Given the description of an element on the screen output the (x, y) to click on. 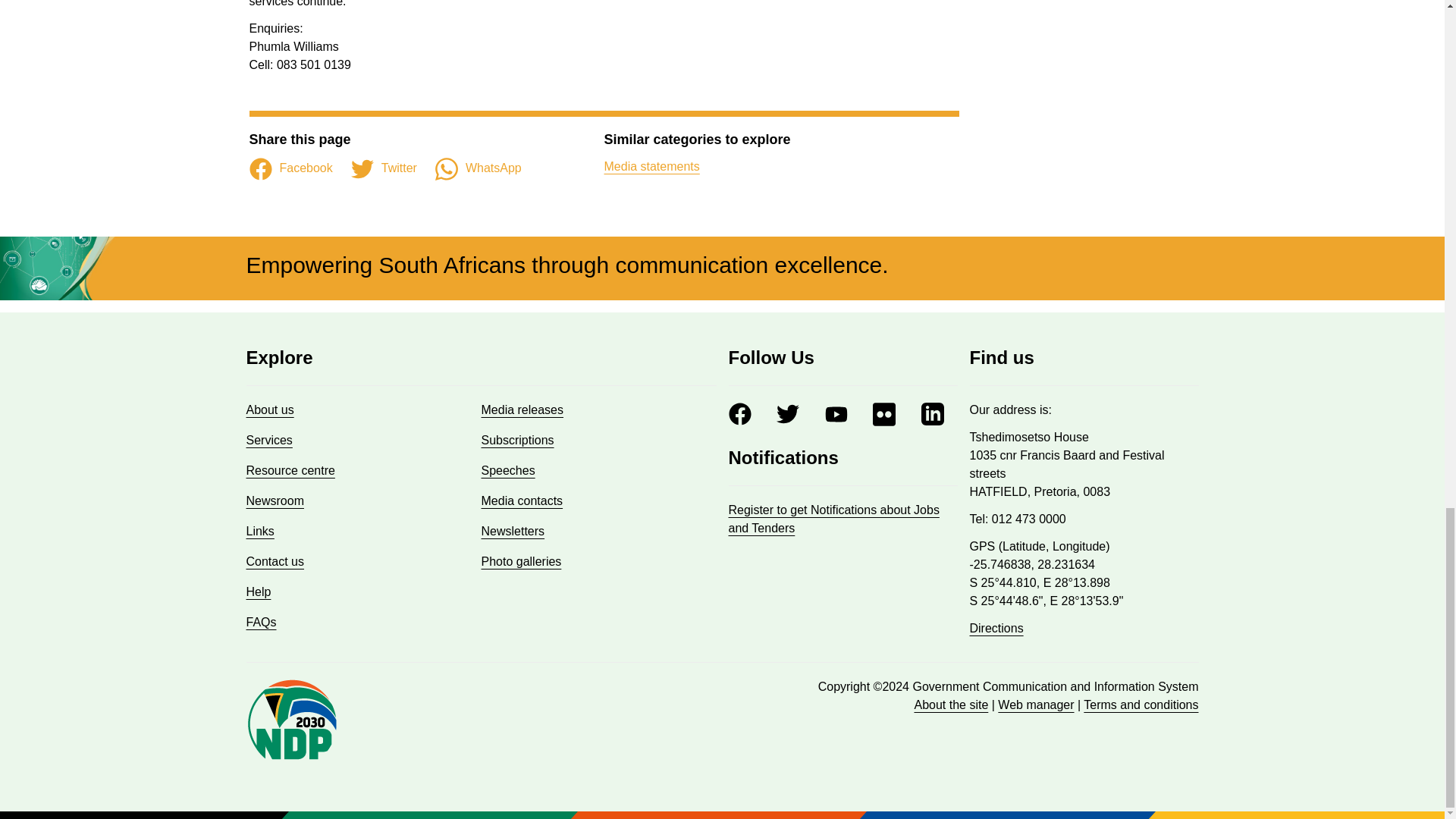
Contact us (274, 561)
Twitter (383, 169)
Subscriptions (516, 440)
Links (259, 531)
Media contacts (521, 501)
Share on Twitter (383, 169)
WhatsApp (478, 168)
Speeches (507, 470)
GCIS web (1035, 704)
Help (258, 592)
FAQs (261, 622)
Newsletters (512, 531)
Services (269, 440)
About us (270, 410)
Media statements (651, 165)
